Given the description of an element on the screen output the (x, y) to click on. 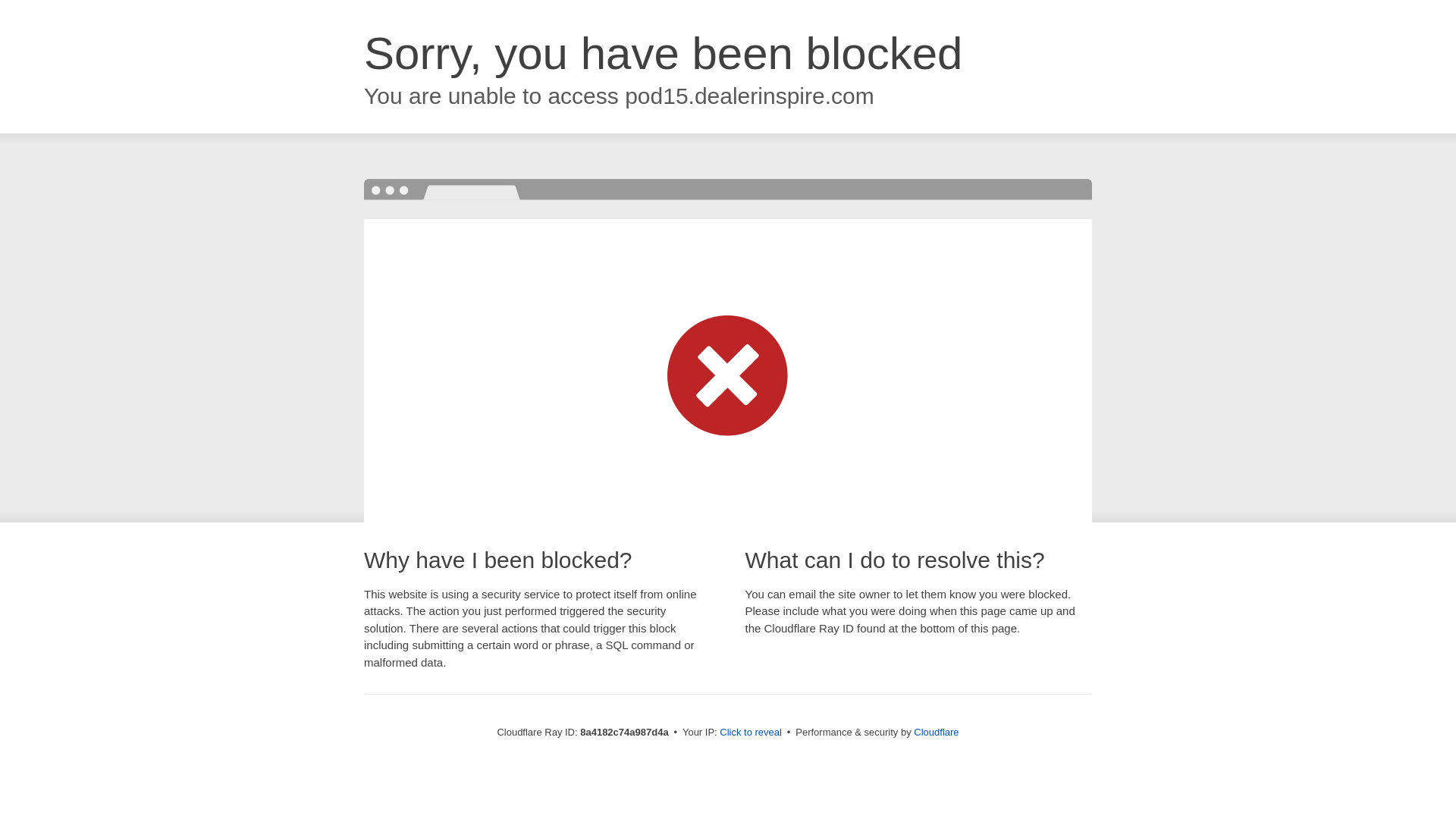
Cloudflare (936, 731)
Click to reveal (750, 732)
